Given the description of an element on the screen output the (x, y) to click on. 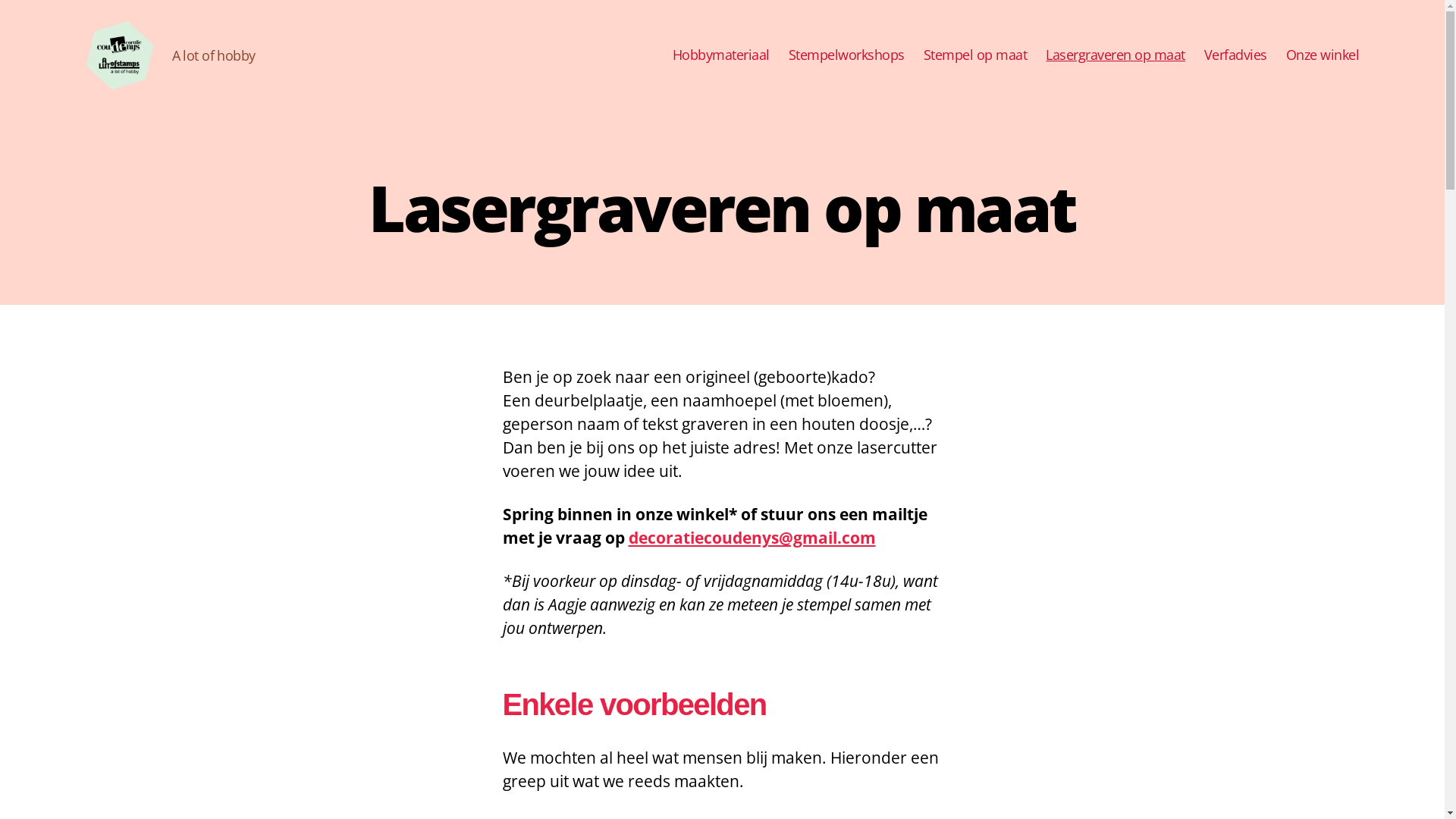
Verfadvies Element type: text (1235, 55)
Stempel op maat Element type: text (975, 55)
Hobbymateriaal Element type: text (720, 55)
Onze winkel Element type: text (1322, 55)
Stempelworkshops Element type: text (846, 55)
decoratiecoudenys@gmail.com Element type: text (751, 537)
Lasergraveren op maat Element type: text (1115, 55)
